Given the description of an element on the screen output the (x, y) to click on. 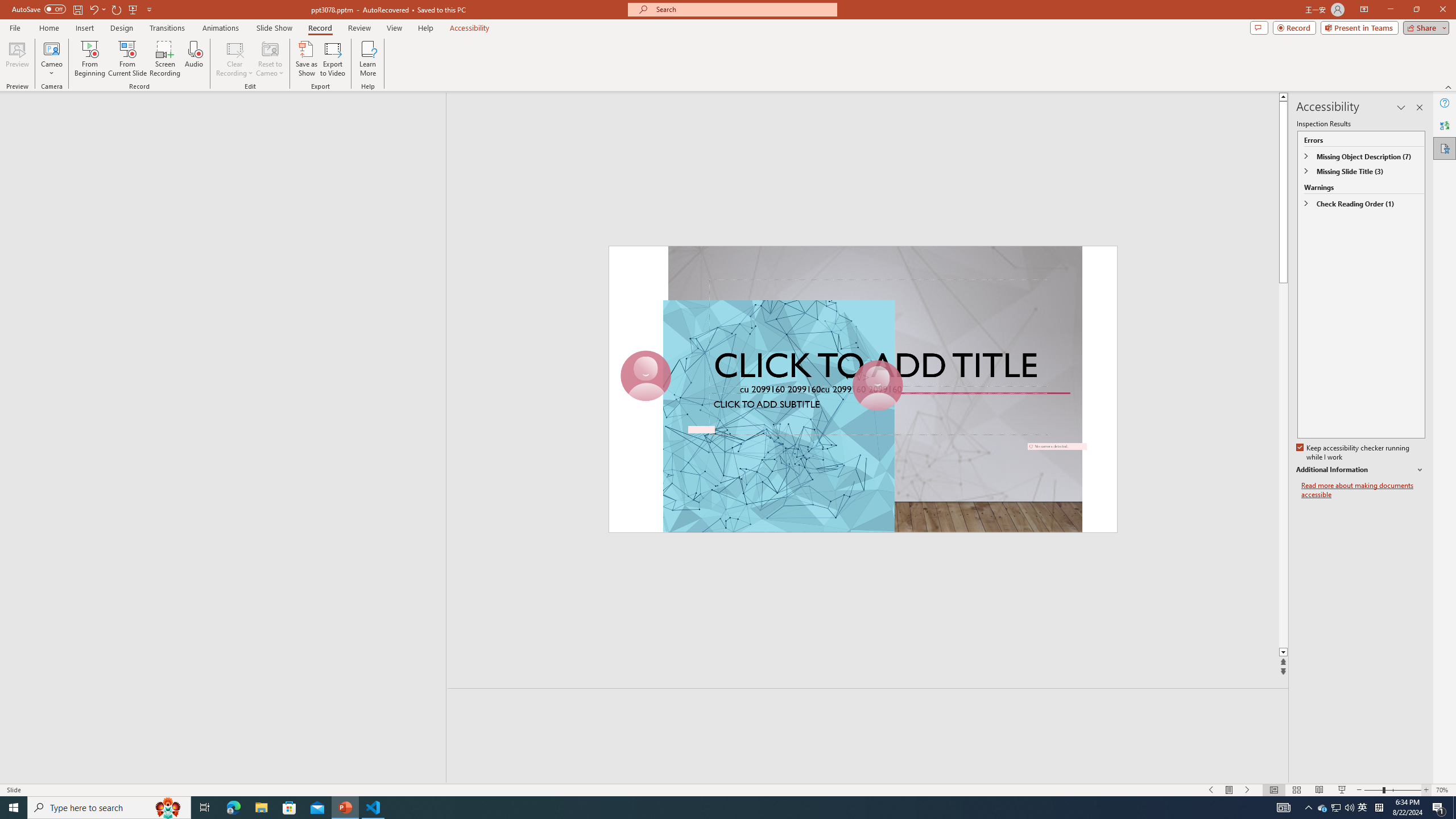
Menu On (1229, 790)
TextBox 7 (1071, 427)
An abstract genetic concept (867, 389)
Slide Show Previous On (1211, 790)
Add-in 17 (932, 415)
Camera 9 (613, 609)
